Given the description of an element on the screen output the (x, y) to click on. 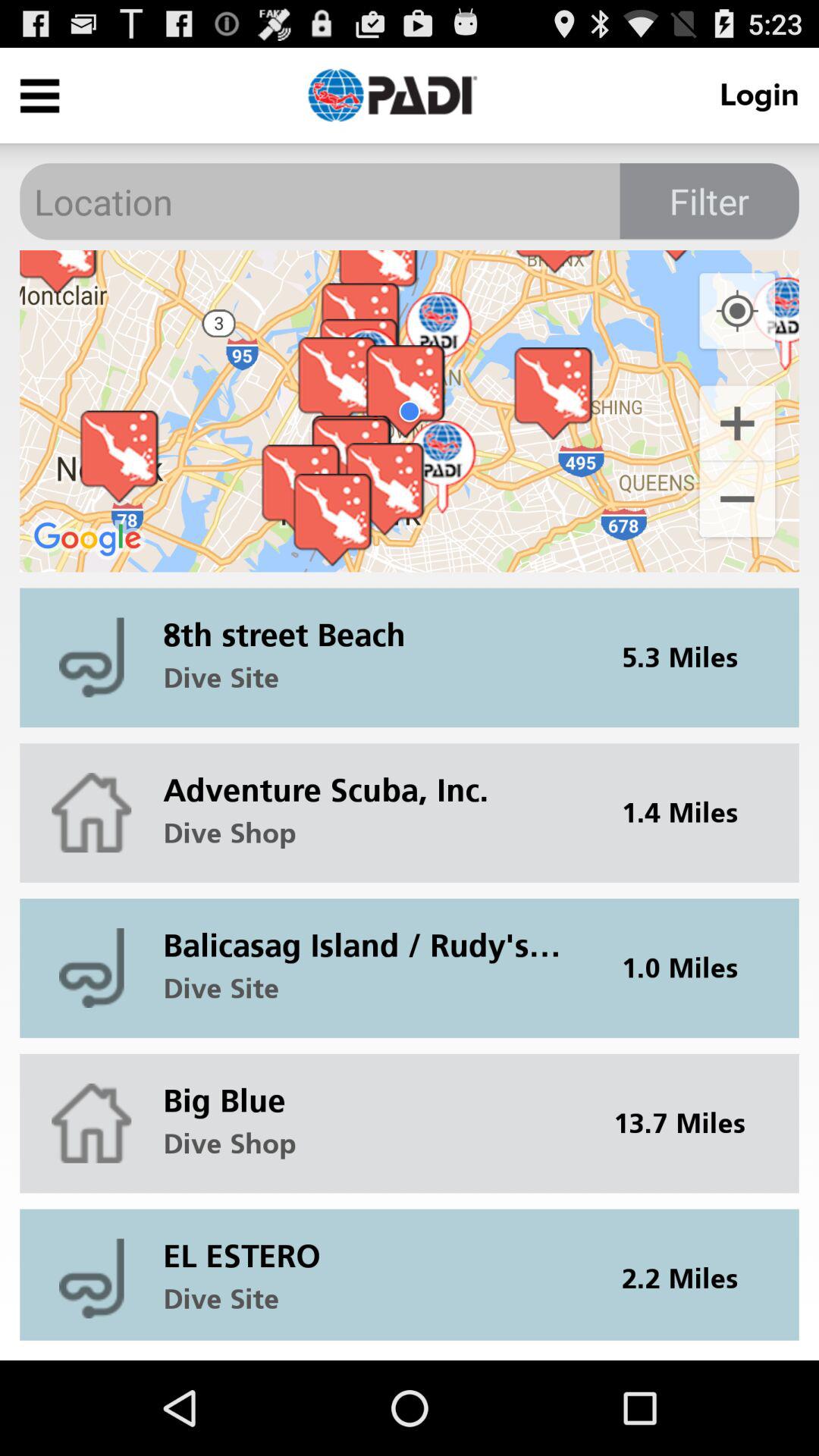
type in location (409, 201)
